Given the description of an element on the screen output the (x, y) to click on. 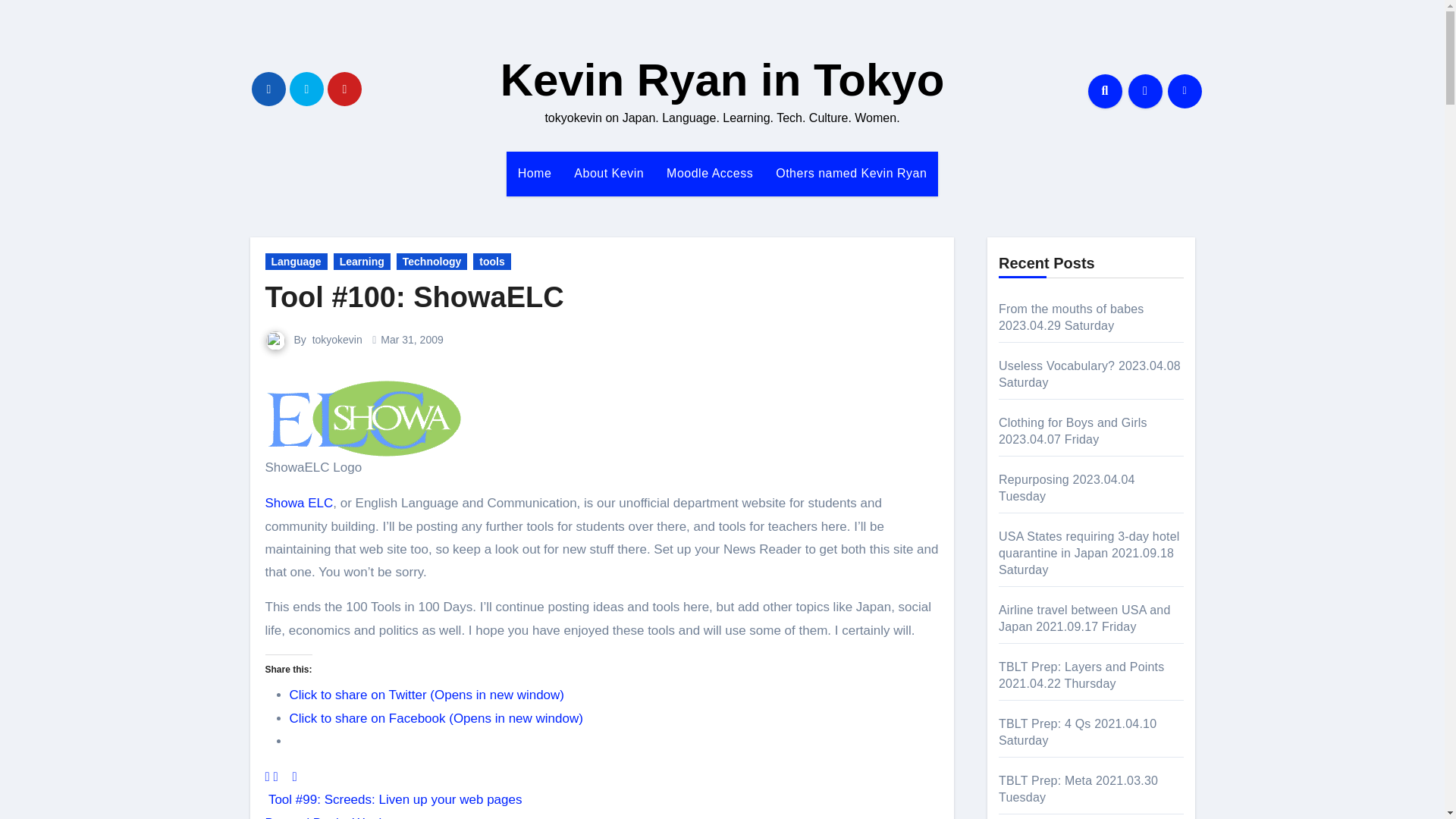
Click to share on Facebook (436, 718)
Click to share on Twitter (426, 694)
Moodle Access (709, 173)
Home (534, 173)
Learning (361, 261)
tools (492, 261)
Technology (431, 261)
Showa ELC (298, 503)
logo (362, 418)
About Kevin (608, 173)
